Given the description of an element on the screen output the (x, y) to click on. 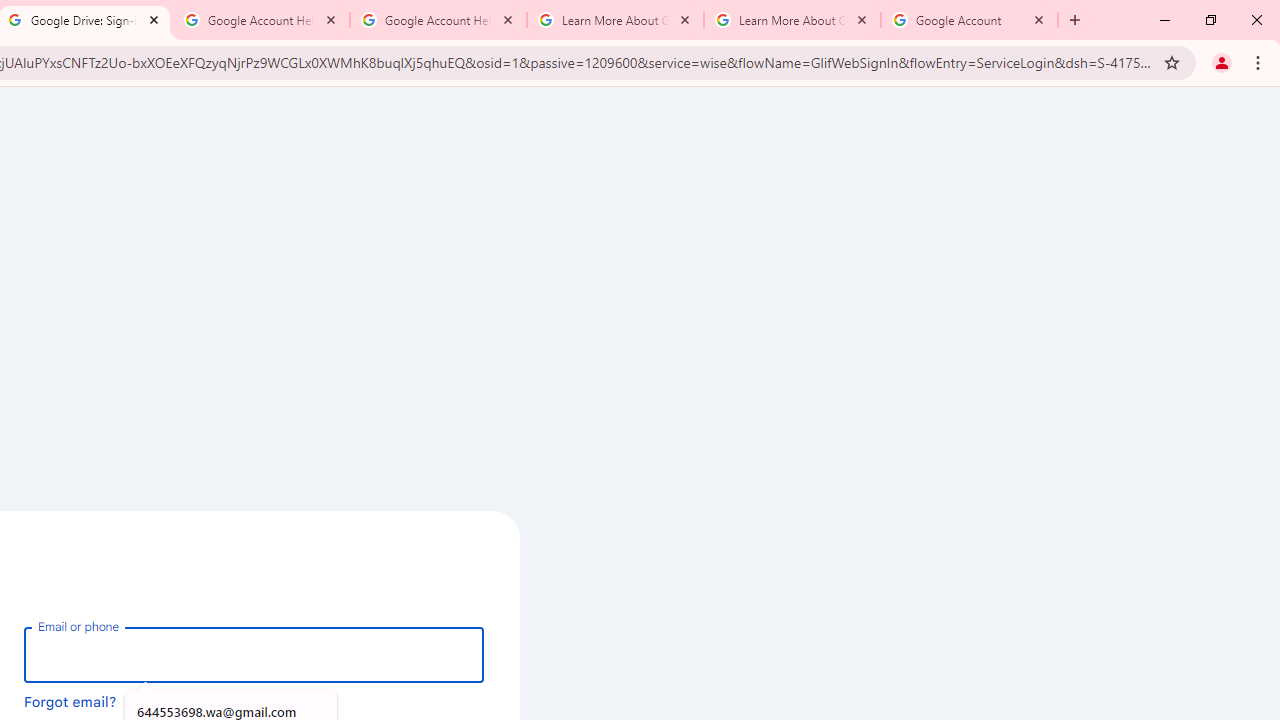
Google Account (969, 20)
Google Account Help (260, 20)
Forgot email? (70, 701)
Google Account Help (438, 20)
Email or phone (253, 654)
